Given the description of an element on the screen output the (x, y) to click on. 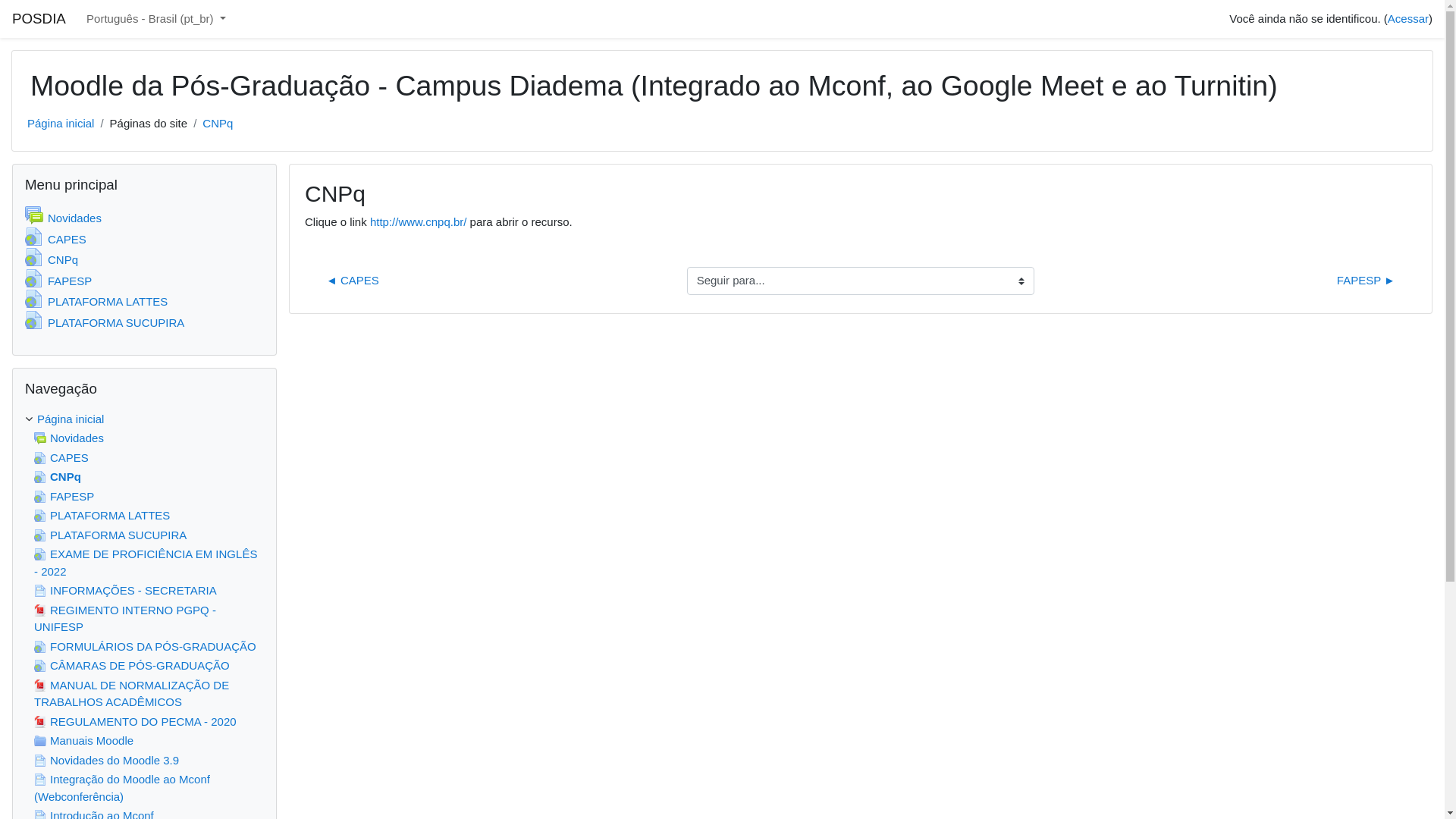
URL Element type: hover (40, 495)
http://www.cnpq.br/ Element type: text (418, 221)
PLATAFORMA LATTES Element type: text (101, 514)
POSDIA Element type: text (38, 19)
PLATAFORMA SUCUPIRA
URL Element type: text (104, 321)
CNPq
URL Element type: text (51, 259)
Novidades do Moodle 3.9 Element type: text (106, 759)
FAPESP Element type: text (64, 495)
URL Element type: hover (40, 515)
URL Element type: hover (40, 665)
Arquivo Element type: hover (40, 721)
FAPESP
URL Element type: text (58, 280)
Novidades Element type: text (68, 437)
CNPq Element type: text (217, 123)
Pasta Element type: hover (40, 740)
Arquivo Element type: hover (40, 685)
CAPES
URL Element type: text (55, 238)
URL Element type: hover (40, 476)
URL Element type: hover (40, 554)
REGULAMENTO DO PECMA - 2020 Element type: text (135, 720)
PLATAFORMA SUCUPIRA Element type: text (110, 533)
PLATAFORMA LATTES
URL Element type: text (96, 300)
URL Element type: hover (40, 535)
Acessar Element type: text (1407, 18)
CNPq Element type: text (57, 476)
URL Element type: hover (40, 646)
CAPES Element type: text (61, 456)
Manuais Moodle Element type: text (83, 740)
REGIMENTO INTERNO PGPQ - UNIFESP Element type: text (125, 618)
Arquivo Element type: hover (40, 609)
URL Element type: hover (40, 457)
Pular Menu principal Element type: text (11, 162)
